Given the description of an element on the screen output the (x, y) to click on. 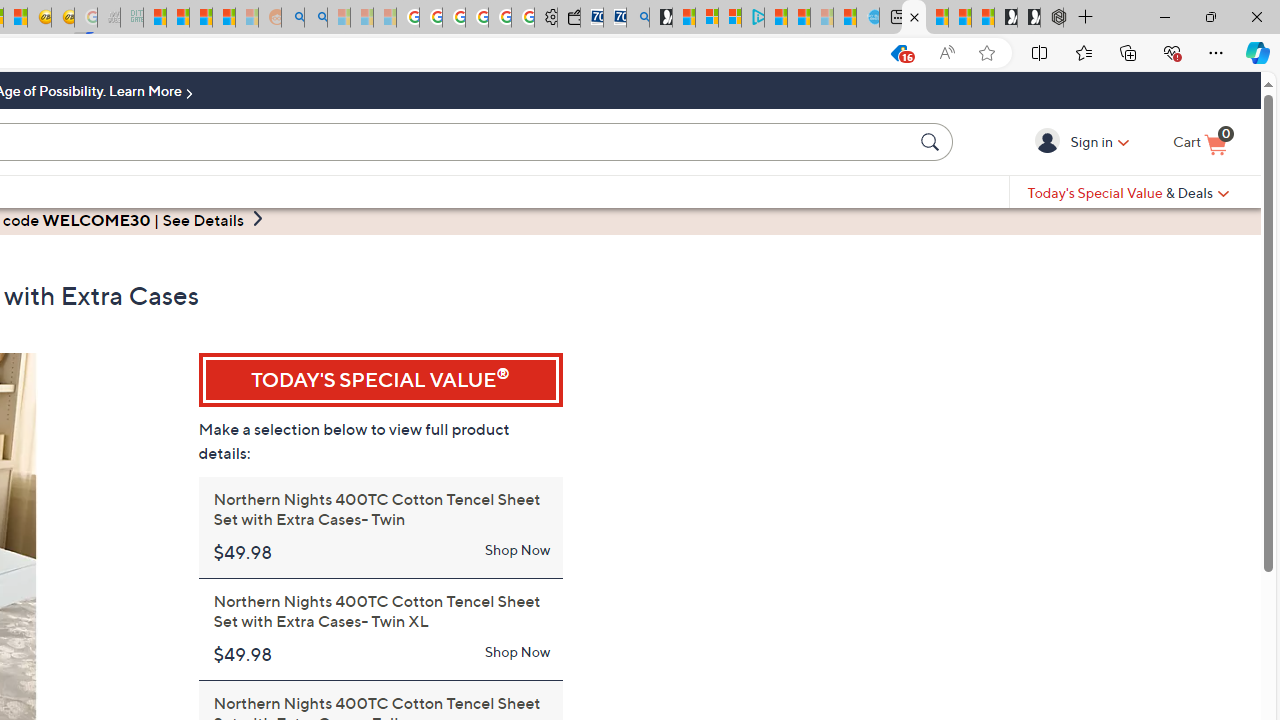
Wallet (568, 17)
Bing Real Estate - Home sales and rental listings (637, 17)
Today's Special Value & Deals (1128, 192)
Cart is Empty  (1199, 143)
This site has coupons! Shopping in Microsoft Edge, 16 (858, 53)
Search Submit (932, 141)
Today's Special Value & Deals (1128, 192)
DITOGAMES AG Imprint - Sleeping (132, 17)
